Given the description of an element on the screen output the (x, y) to click on. 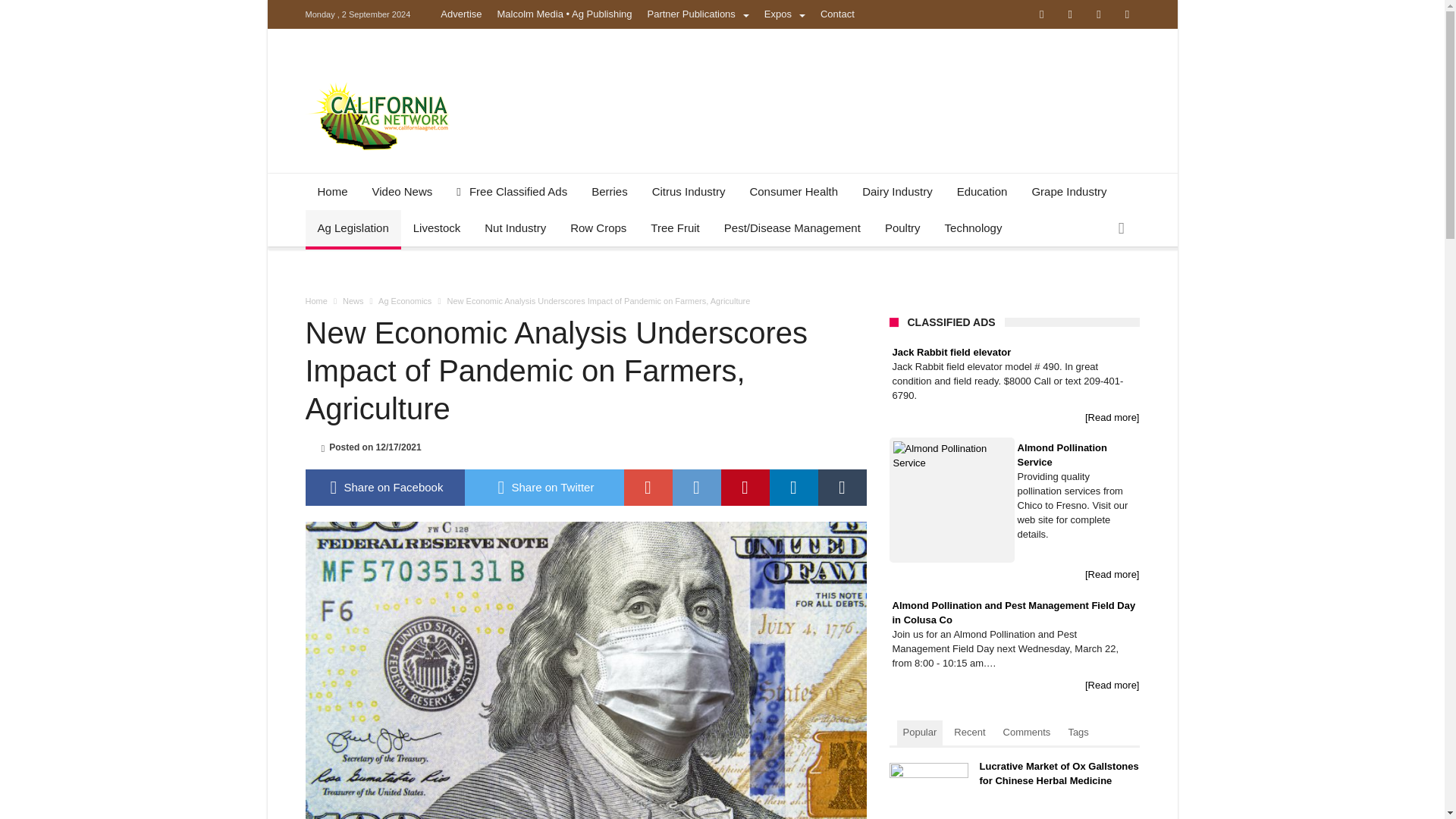
reddit (695, 487)
Consumer Health (793, 191)
Dairy Industry (897, 191)
Rss (1126, 15)
Partner Publications (698, 14)
Video News (402, 191)
Poultry (902, 227)
pinterest (744, 487)
Youtube (1098, 15)
Education (982, 191)
